Given the description of an element on the screen output the (x, y) to click on. 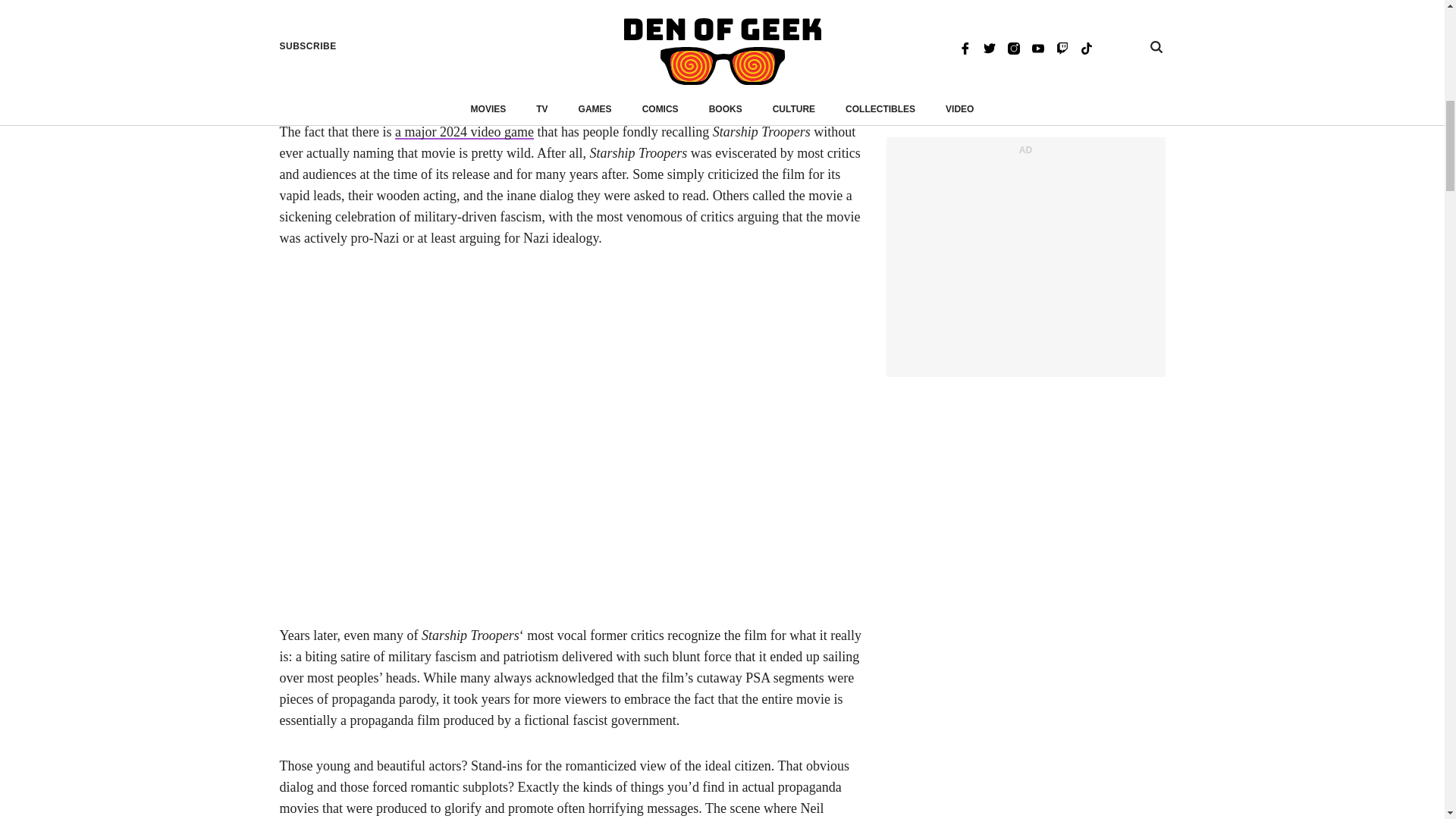
debut trailer (706, 43)
a major 2024 video game (464, 131)
